Given the description of an element on the screen output the (x, y) to click on. 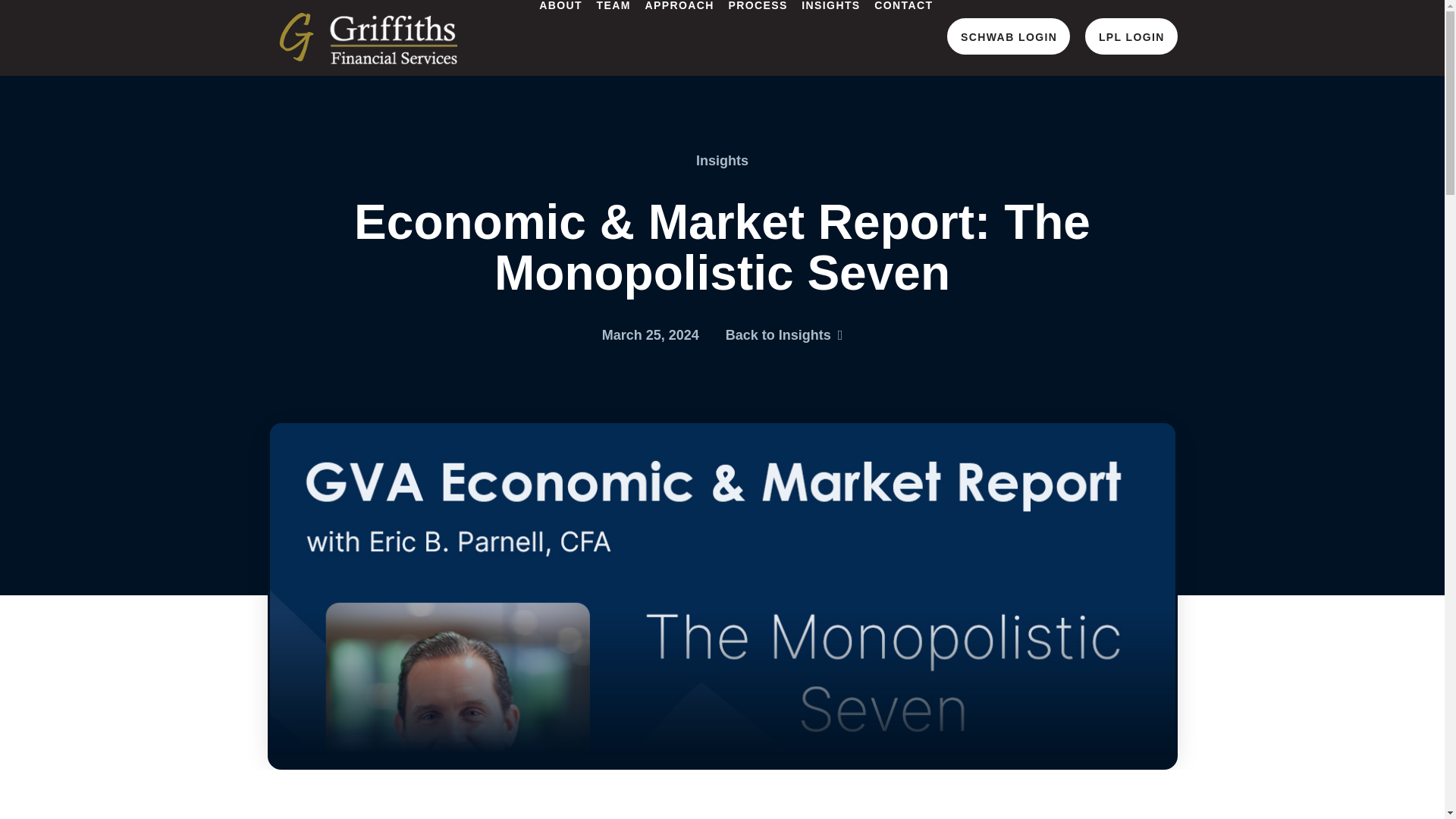
LPL LOGIN (1130, 36)
PROCESS (756, 38)
Insights (721, 160)
CONTACT (902, 38)
APPROACH (678, 38)
Back to Insights (784, 334)
INSIGHTS (829, 38)
SCHWAB LOGIN (1008, 36)
